Given the description of an element on the screen output the (x, y) to click on. 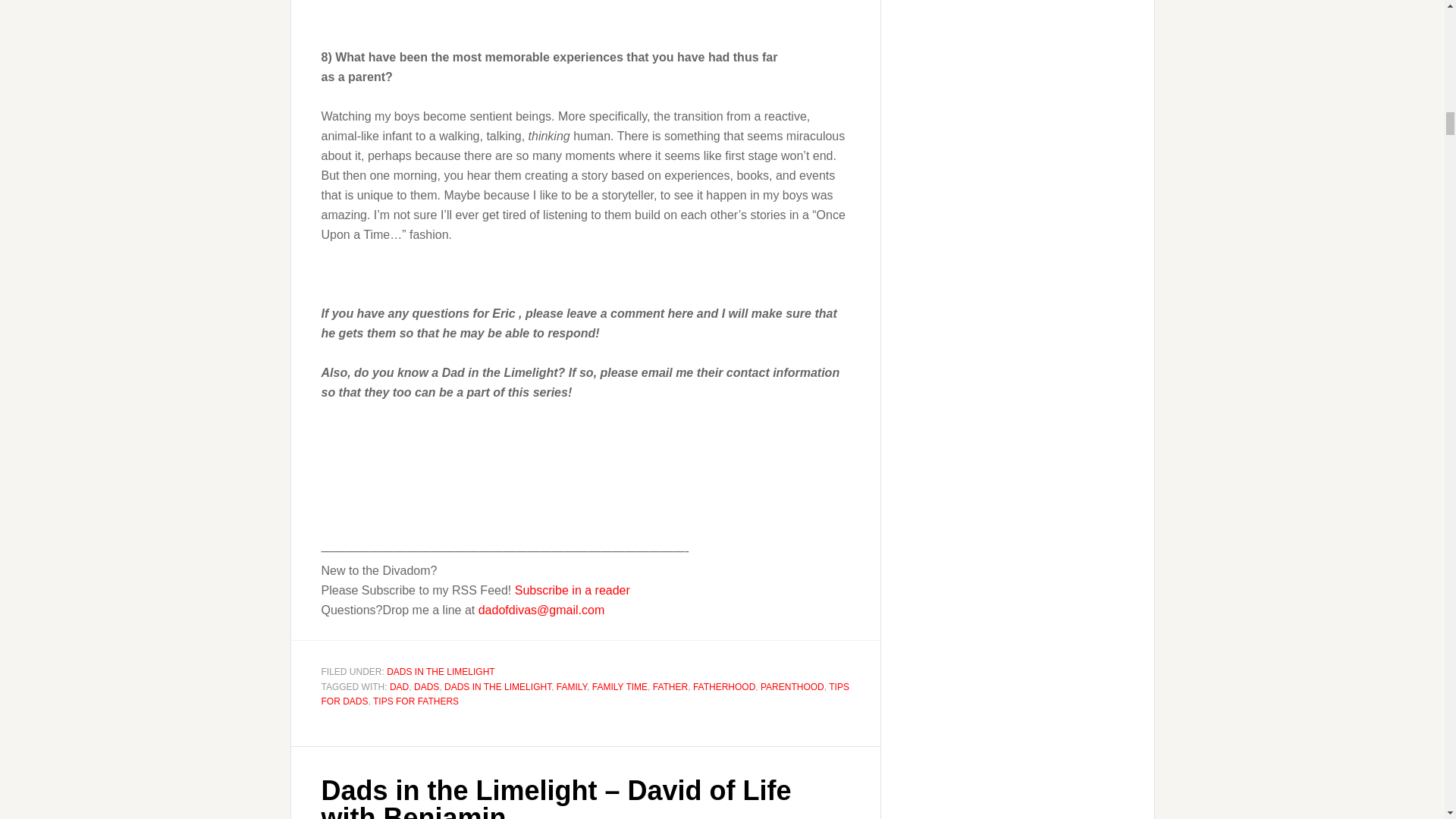
Subscribe in a reader (572, 590)
DAD (399, 686)
DADS IN THE LIMELIGHT (441, 671)
Dad of Divas, dadofdivas.com (367, 449)
